Given the description of an element on the screen output the (x, y) to click on. 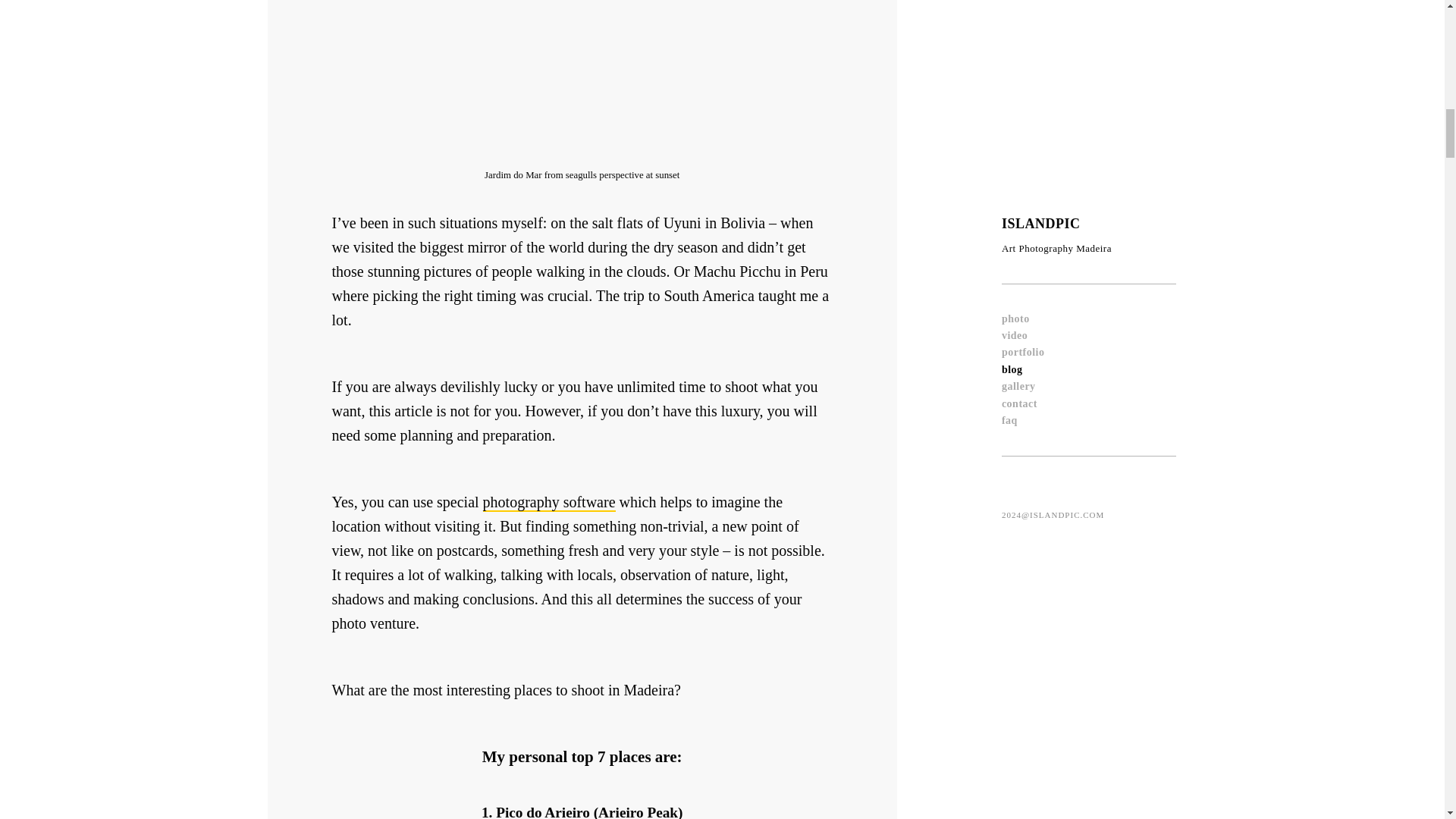
photography software (549, 502)
